Given the description of an element on the screen output the (x, y) to click on. 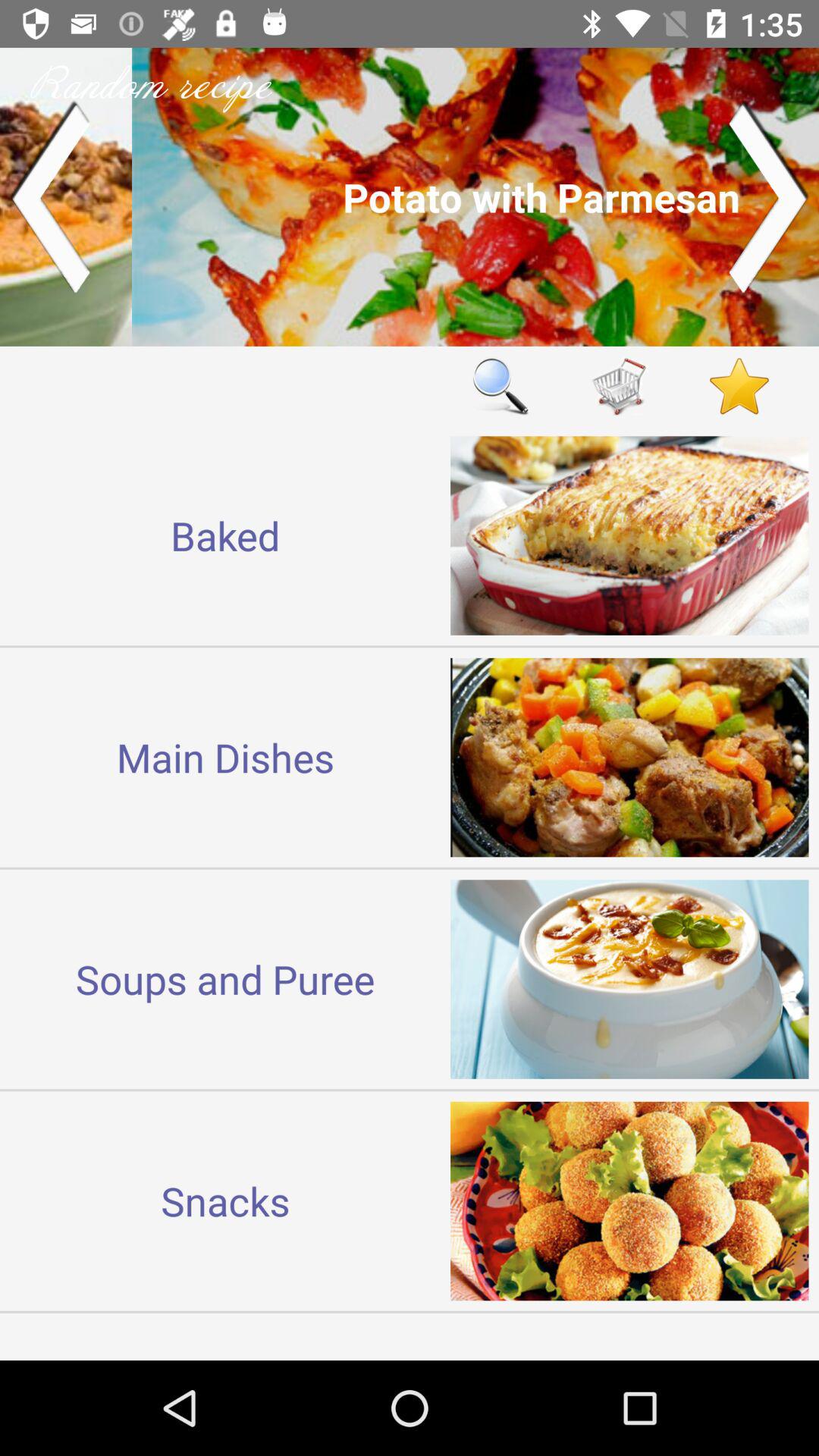
click item to the right of baked (500, 385)
